Given the description of an element on the screen output the (x, y) to click on. 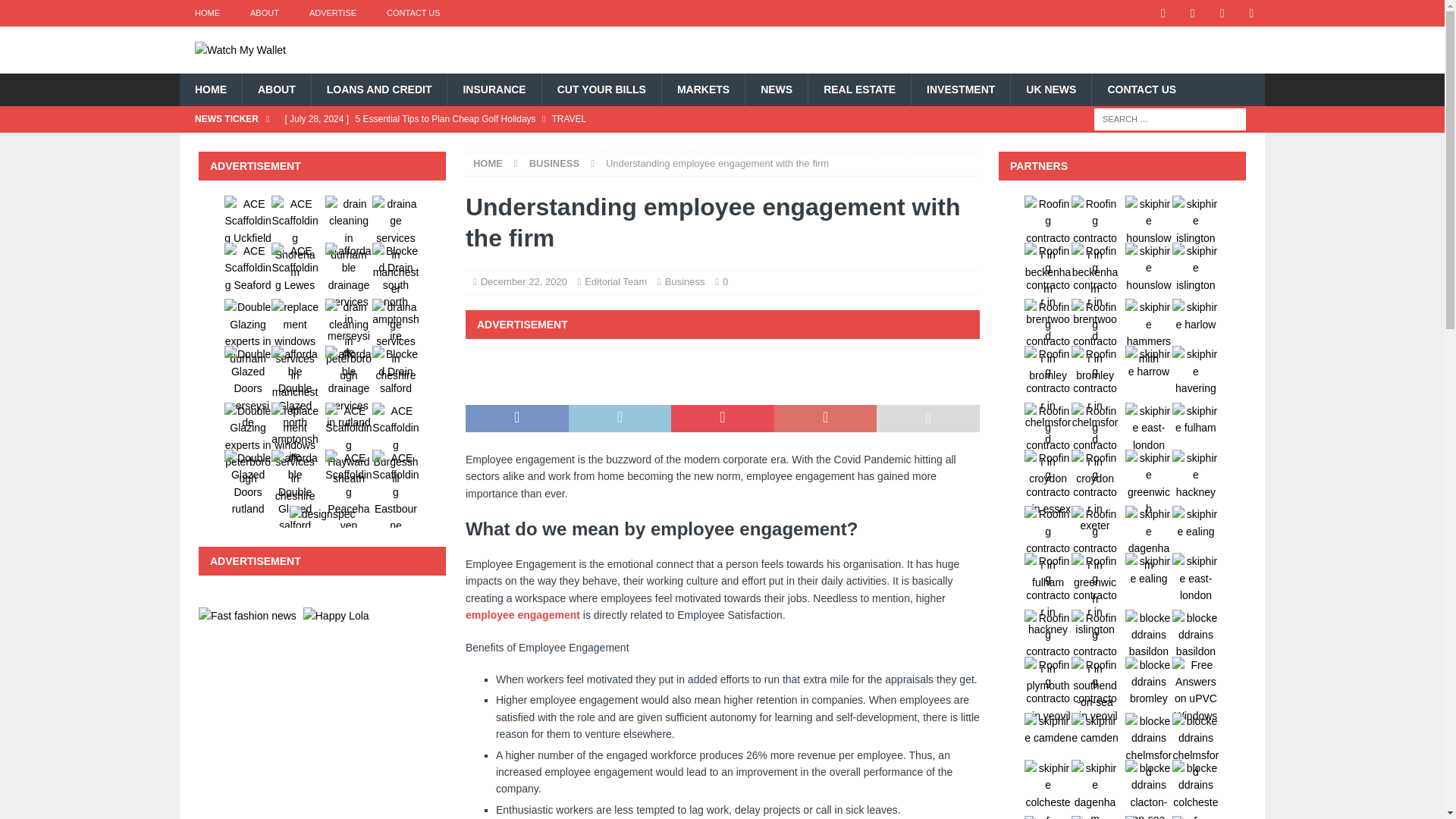
ABOUT (276, 89)
ABOUT (264, 13)
LOANS AND CREDIT (378, 89)
HOME (487, 163)
employee engagement (522, 614)
HOME (206, 13)
INVESTMENT (960, 89)
Discover the Best Underfloor Heating Systems for Your Home (581, 144)
HOME (210, 89)
5 Essential Tips to Plan Cheap Golf Holidays (581, 118)
